Given the description of an element on the screen output the (x, y) to click on. 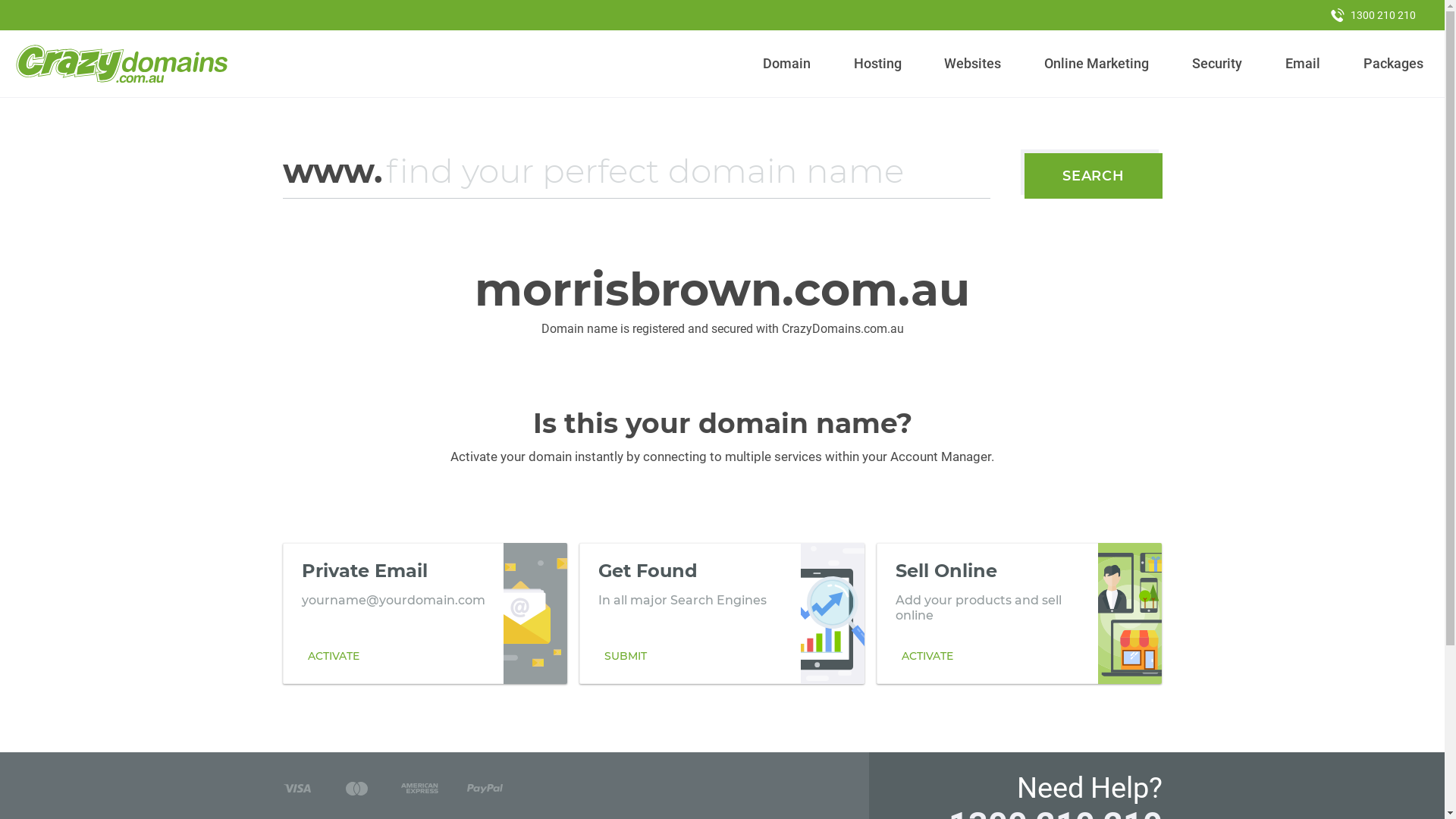
Online Marketing Element type: text (1096, 63)
Get Found
In all major Search Engines
SUBMIT Element type: text (721, 613)
Email Element type: text (1302, 63)
Security Element type: text (1217, 63)
Private Email
yourname@yourdomain.com
ACTIVATE Element type: text (424, 613)
Sell Online
Add your products and sell online
ACTIVATE Element type: text (1018, 613)
Hosting Element type: text (877, 63)
SEARCH Element type: text (1092, 175)
Websites Element type: text (972, 63)
Packages Element type: text (1392, 63)
1300 210 210 Element type: text (1373, 15)
Domain Element type: text (786, 63)
